Given the description of an element on the screen output the (x, y) to click on. 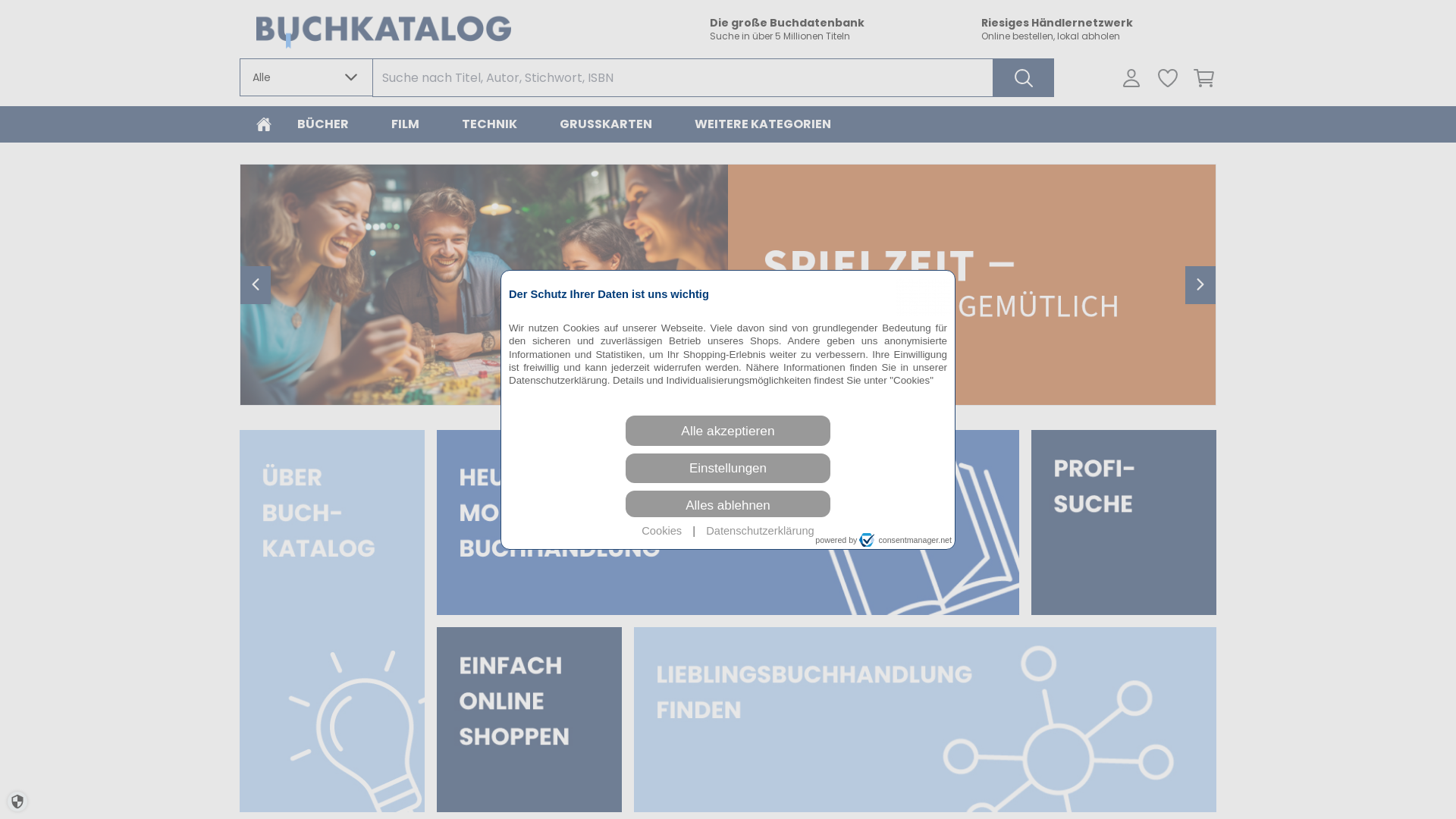
TECHNIK Element type: text (489, 124)
Cookies Element type: text (661, 530)
consentmanager.net Element type: text (905, 539)
Einstellungen Element type: text (727, 468)
Alles ablehnen Element type: text (727, 503)
FILM Element type: text (405, 124)
Datenschutz-Einstellungen Element type: hover (17, 801)
Alle akzeptieren Element type: text (727, 430)
GRUSSKARTEN Element type: text (605, 124)
WEITERE KATEGORIEN Element type: text (762, 124)
Online bestellen, lokal abholen Element type: text (1098, 36)
